Given the description of an element on the screen output the (x, y) to click on. 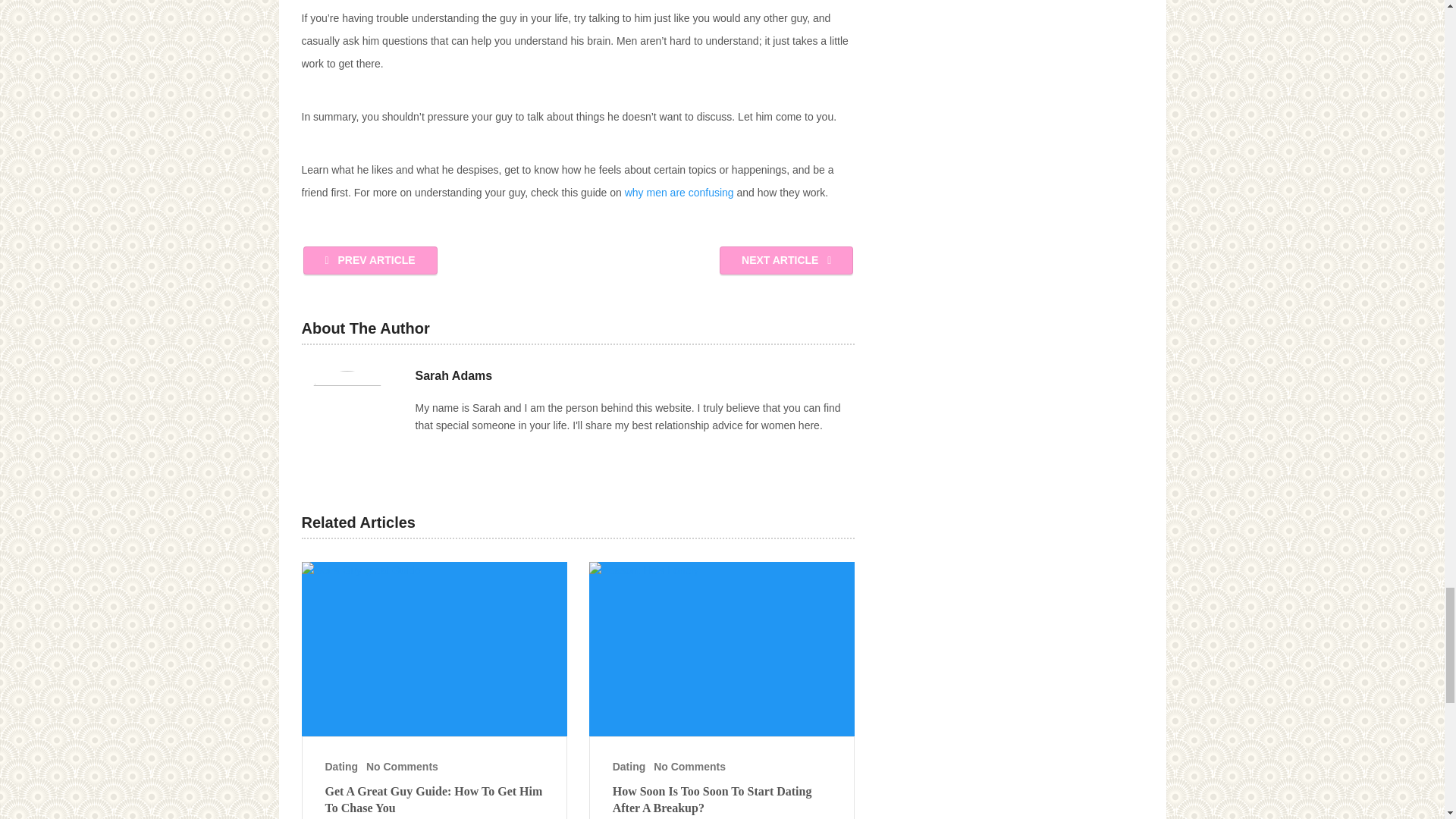
How Soon Is Too Soon To Start Dating After A Breakup? (721, 799)
How Soon Is Too Soon To Start Dating After A Breakup? (721, 648)
How Soon Is Too Soon To Start Dating After A Breakup? (721, 799)
Get A Great Guy Guide: How To Get Him To Chase You (433, 799)
View all posts in Dating (629, 766)
Get A Great Guy Guide: How To Get Him To Chase You (433, 799)
Dating (629, 766)
PREV ARTICLE (370, 260)
View all posts in Dating (341, 766)
Get A Great Guy Guide: How To Get Him To Chase You (434, 648)
Dating (341, 766)
Sarah Adams (453, 375)
No Comments (689, 766)
NEXT ARTICLE (786, 260)
No Comments (402, 766)
